Given the description of an element on the screen output the (x, y) to click on. 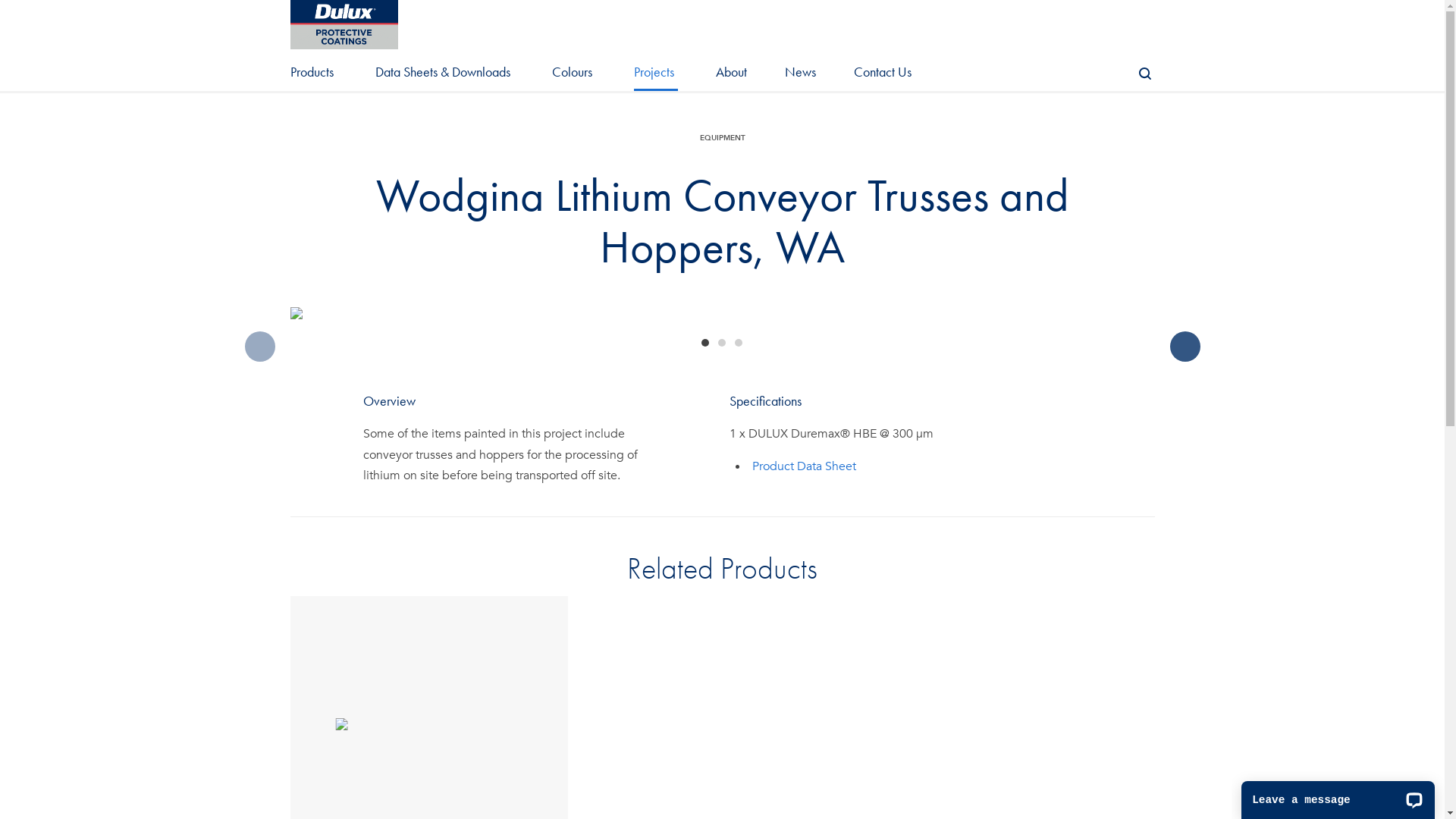
Projects Element type: text (655, 75)
Contact Us Element type: text (881, 75)
About Element type: text (730, 75)
Skip to the content Element type: text (720, 15)
Products Element type: text (322, 75)
1 Element type: text (704, 342)
3 Element type: text (737, 342)
Data Sheets & Downloads Element type: text (444, 75)
News Element type: text (799, 75)
Colours Element type: text (573, 75)
Product Data Sheet Element type: text (804, 466)
EQUIPMENT Element type: text (721, 137)
2 Element type: text (720, 342)
